Given the description of an element on the screen output the (x, y) to click on. 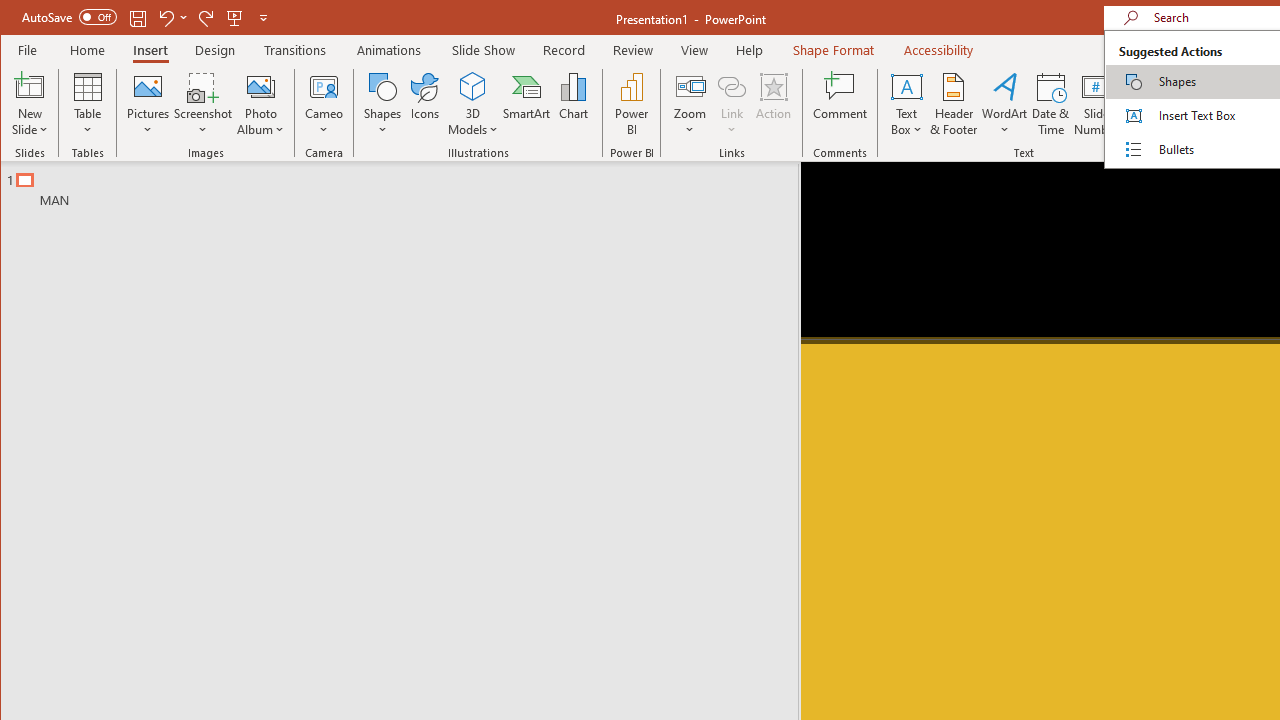
Draw Horizontal Text Box (906, 86)
WordArt (1005, 104)
Date & Time... (1051, 104)
Header & Footer... (954, 104)
Slide Number (1096, 104)
SmartArt... (526, 104)
